Given the description of an element on the screen output the (x, y) to click on. 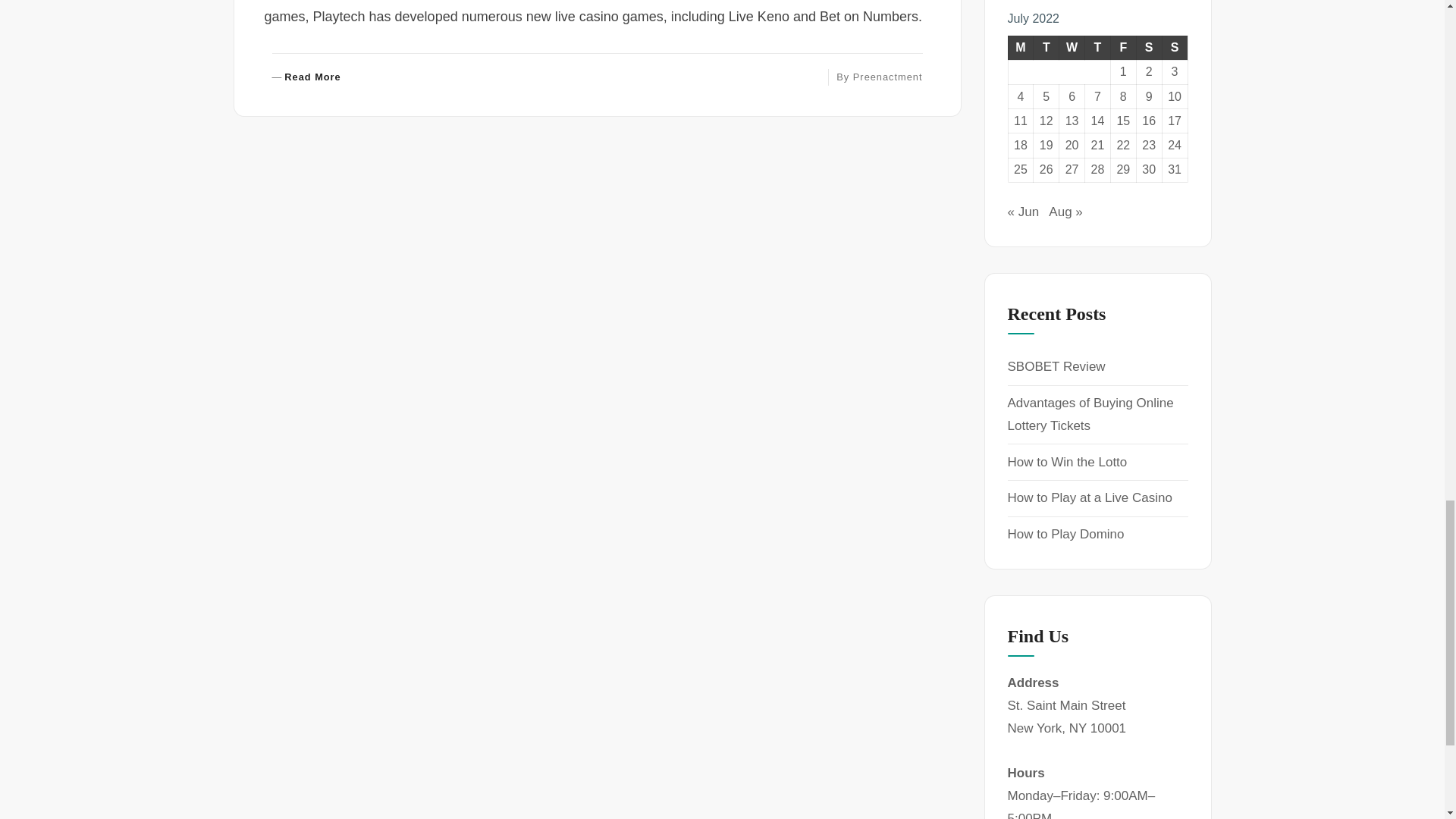
Thursday (1097, 47)
Monday (1020, 47)
Saturday (1148, 47)
Preenactment (888, 76)
Wednesday (305, 77)
Sunday (1071, 47)
Friday (1174, 47)
Tuesday (1122, 47)
